Given the description of an element on the screen output the (x, y) to click on. 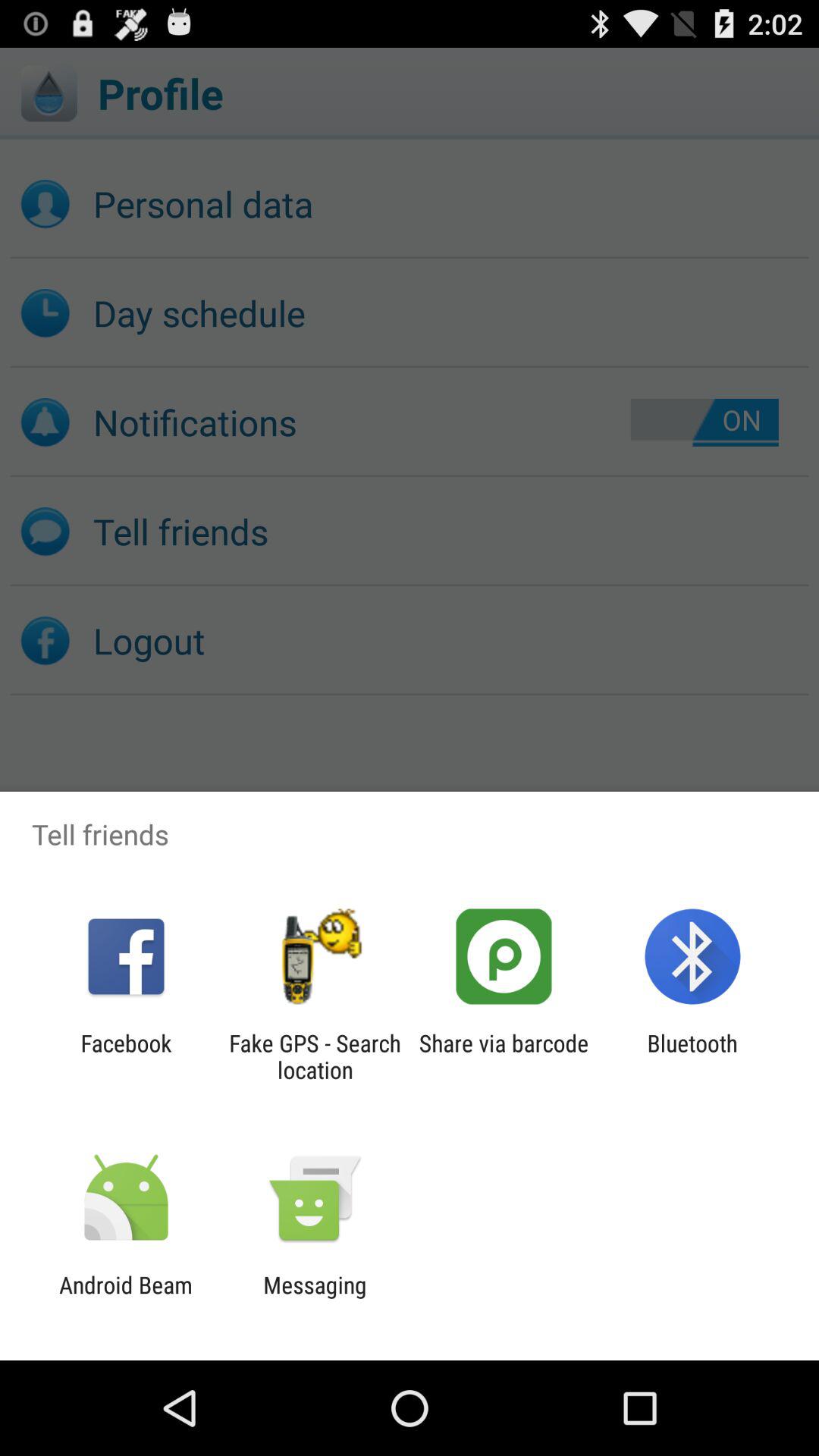
swipe to bluetooth app (692, 1056)
